Given the description of an element on the screen output the (x, y) to click on. 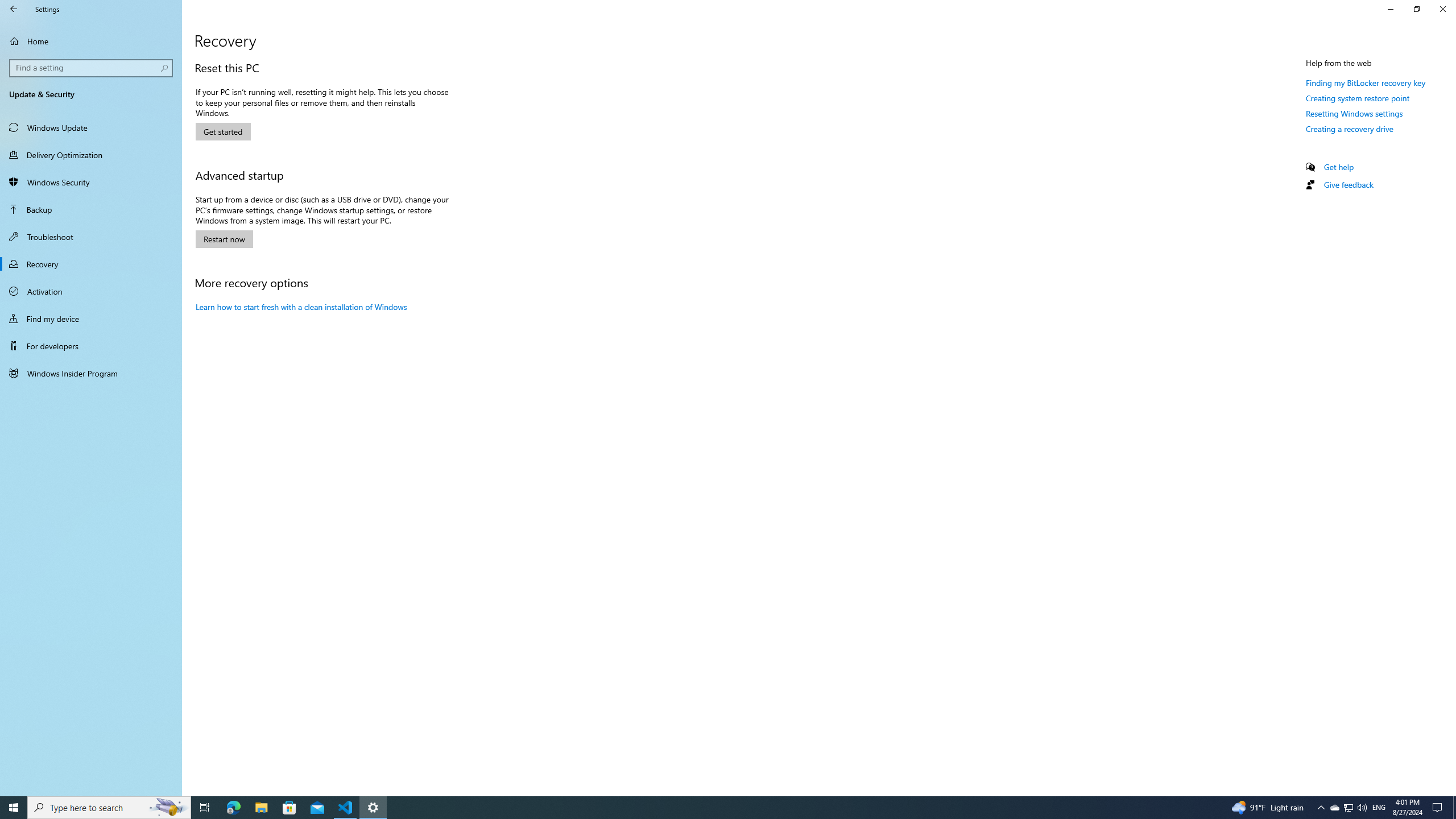
Windows Update (91, 126)
Recovery (91, 263)
Finding my BitLocker recovery key (1365, 82)
Delivery Optimization (91, 154)
Activation (91, 290)
Give feedback (1348, 184)
